Given the description of an element on the screen output the (x, y) to click on. 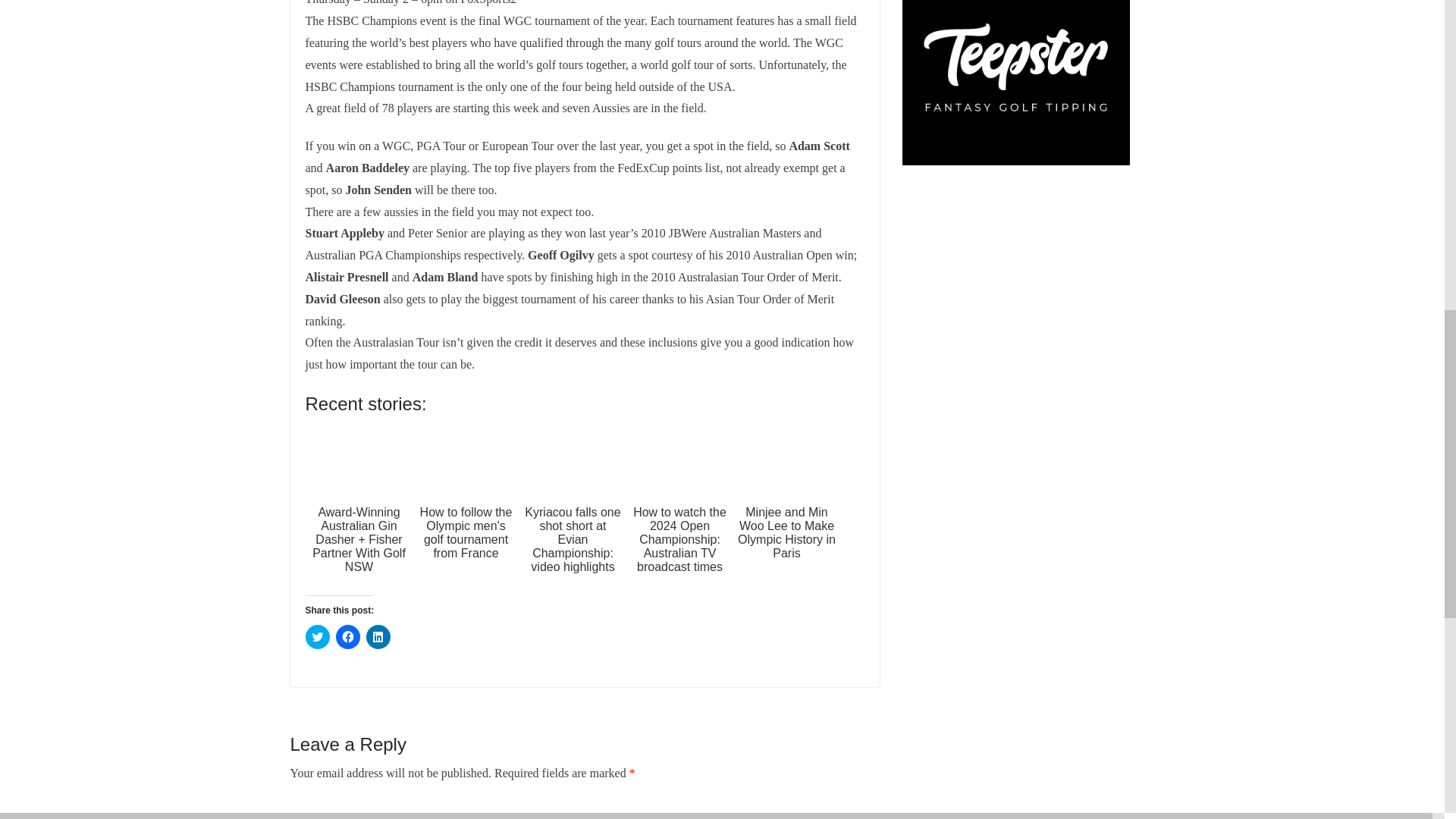
Click to share on Facebook (346, 636)
Click to share on LinkedIn (377, 636)
Click to share on Twitter (316, 636)
